Given the description of an element on the screen output the (x, y) to click on. 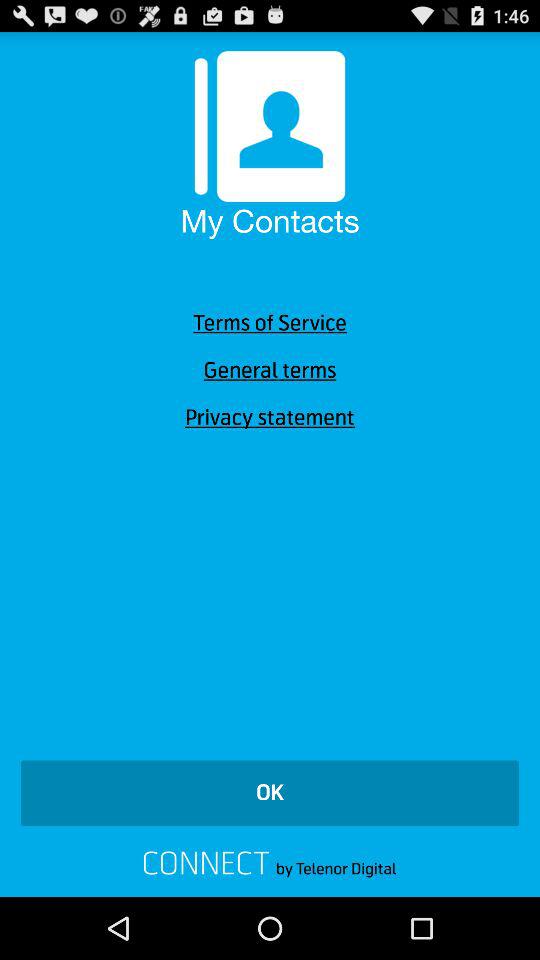
choose icon below the general terms icon (270, 417)
